Given the description of an element on the screen output the (x, y) to click on. 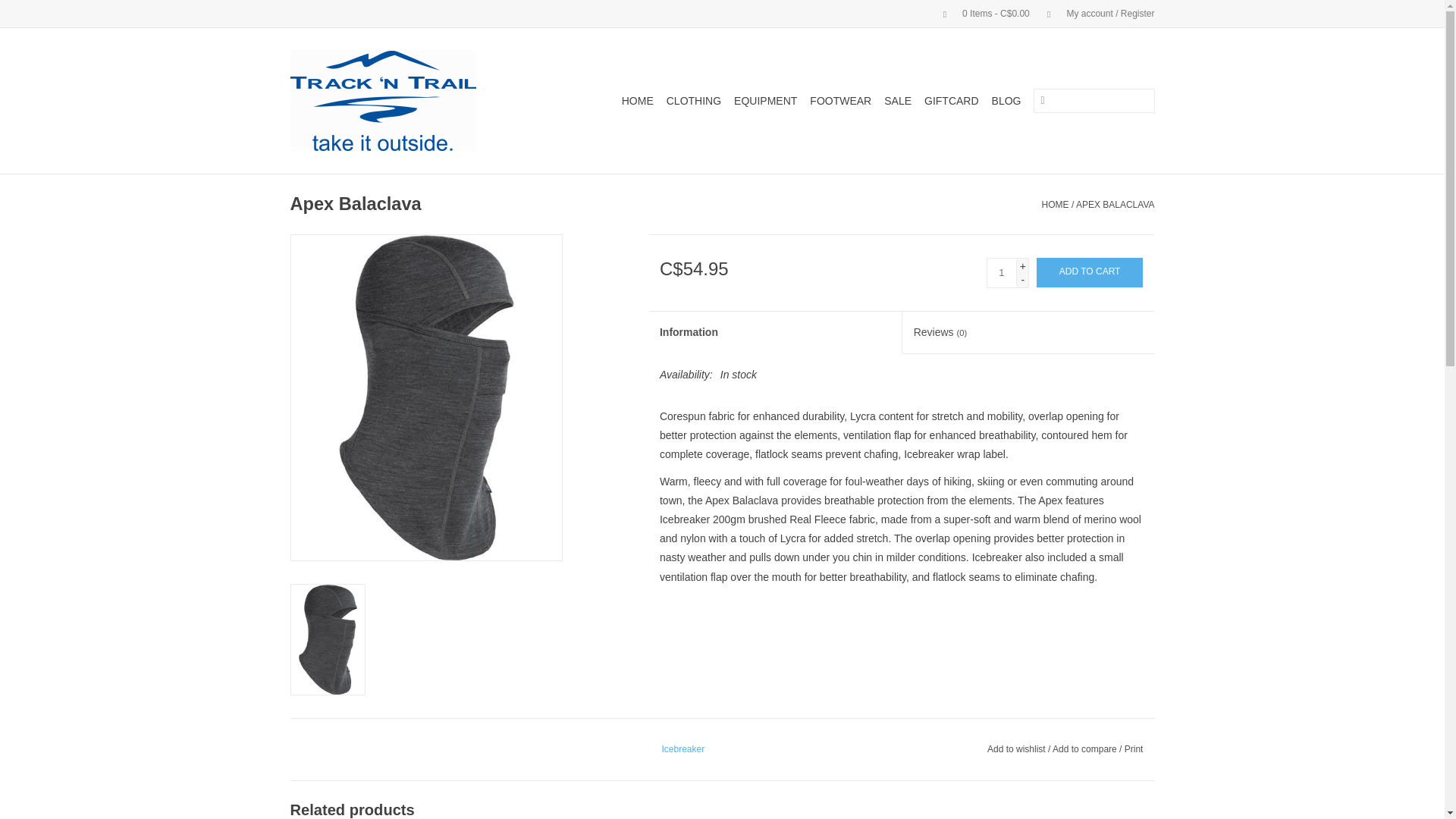
My account (1093, 13)
CLOTHING (693, 100)
HOME (637, 100)
Clothing (693, 100)
EQUIPMENT (765, 100)
1 (1001, 272)
Track 'N Trail (400, 100)
Cart (980, 13)
